Given the description of an element on the screen output the (x, y) to click on. 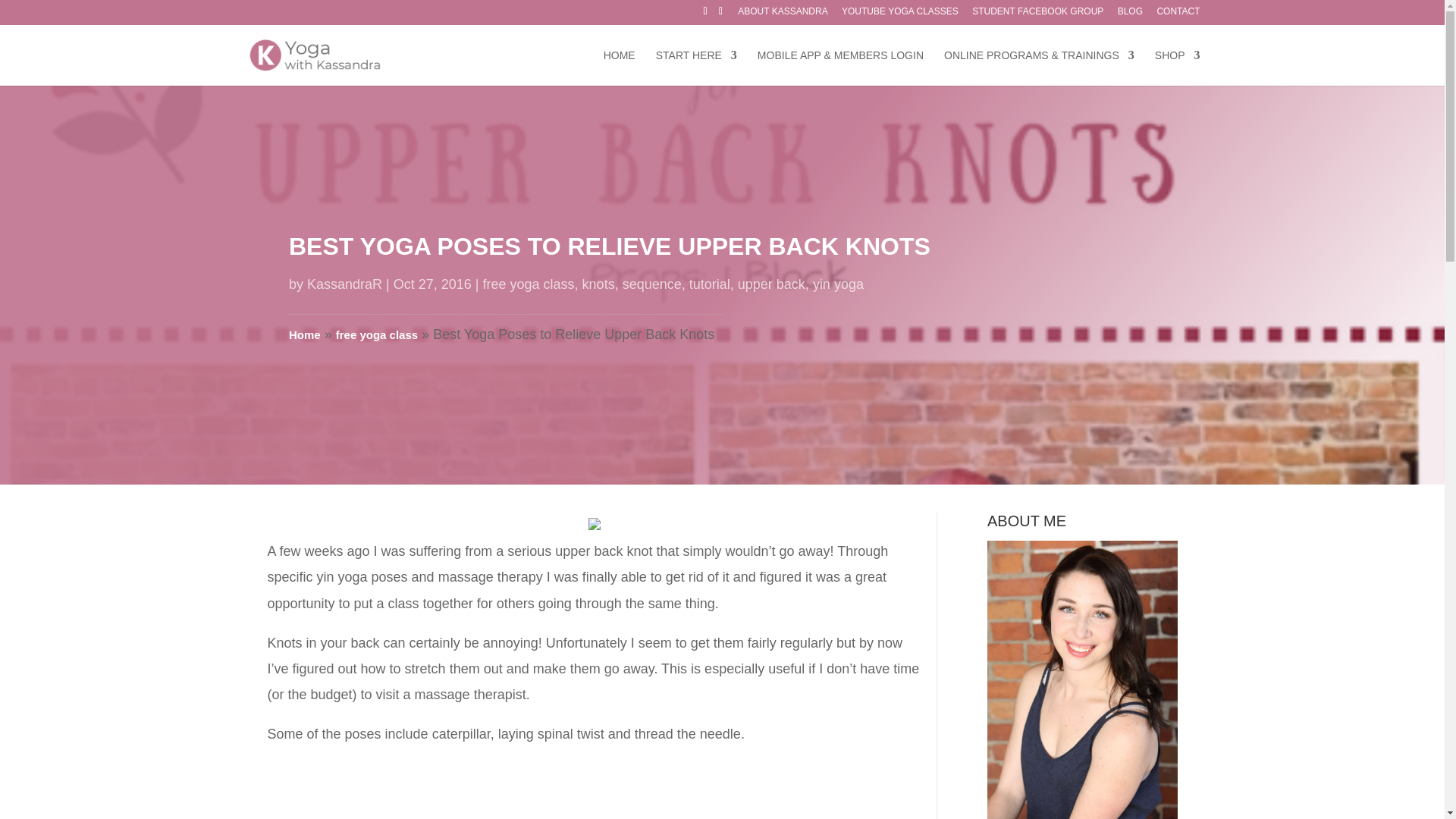
HOME (619, 67)
CONTACT (1177, 14)
YOUTUBE YOGA CLASSES (899, 14)
SHOP (1176, 67)
ABOUT KASSANDRA (782, 14)
BLOG (1130, 14)
Posts by KassandraR (344, 283)
KassandraR (344, 283)
STUDENT FACEBOOK GROUP (1037, 14)
START HERE (696, 67)
